Given the description of an element on the screen output the (x, y) to click on. 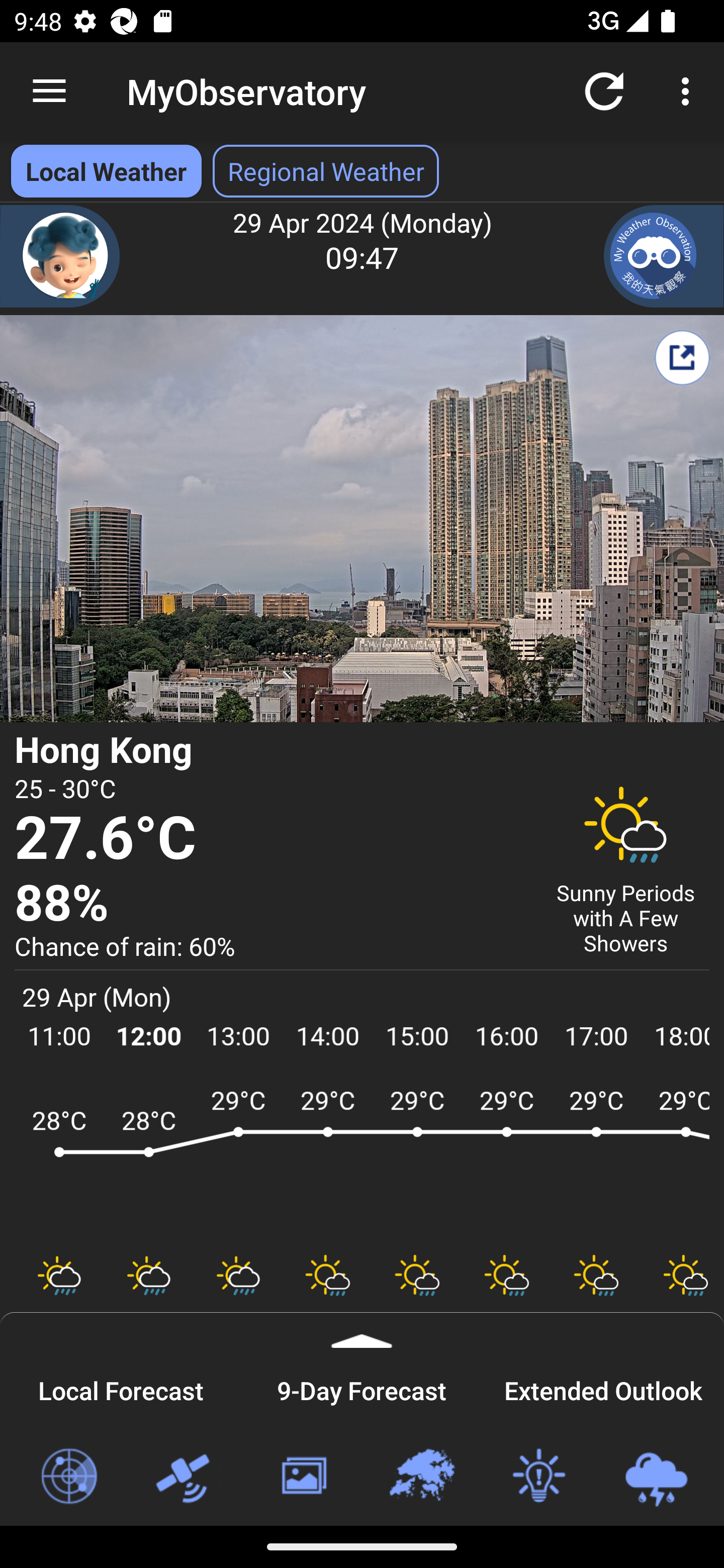
Navigate up (49, 91)
Refresh (604, 90)
More options (688, 90)
Local Weather Local Weather selected (105, 170)
Regional Weather Select Regional Weather (325, 170)
Chatbot (60, 256)
My Weather Observation (663, 256)
Share My Weather Report (681, 357)
27.6°C Temperature
27.6 degree Celsius (270, 839)
88% Relative Humidity
88 percent (270, 903)
ARWF (361, 1160)
Expand (362, 1330)
Local Forecast (120, 1387)
Extended Outlook (603, 1387)
Radar Images (68, 1476)
Satellite Images (185, 1476)
Weather Photos (302, 1476)
Regional Weather (420, 1476)
Weather Tips (537, 1476)
Loc-based Rain & Lightning Forecast (655, 1476)
